Given the description of an element on the screen output the (x, y) to click on. 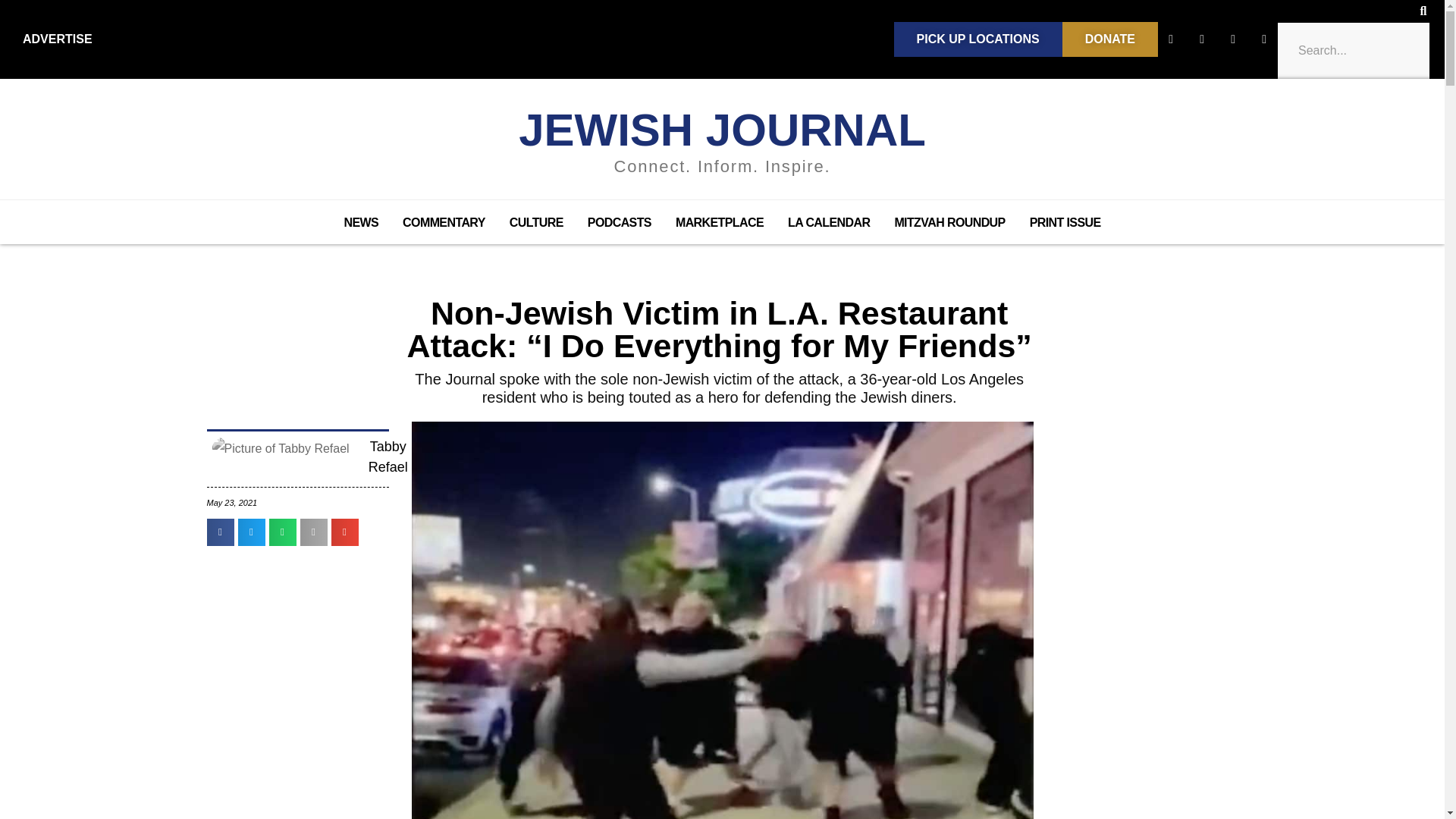
CULTURE (536, 222)
PODCASTS (619, 222)
DONATE (1109, 39)
ADVERTISE (57, 39)
LA CALENDAR (829, 222)
MARKETPLACE (719, 222)
JEWISH JOURNAL (722, 129)
Search (1353, 50)
COMMENTARY (443, 222)
NEWS (361, 222)
